Given the description of an element on the screen output the (x, y) to click on. 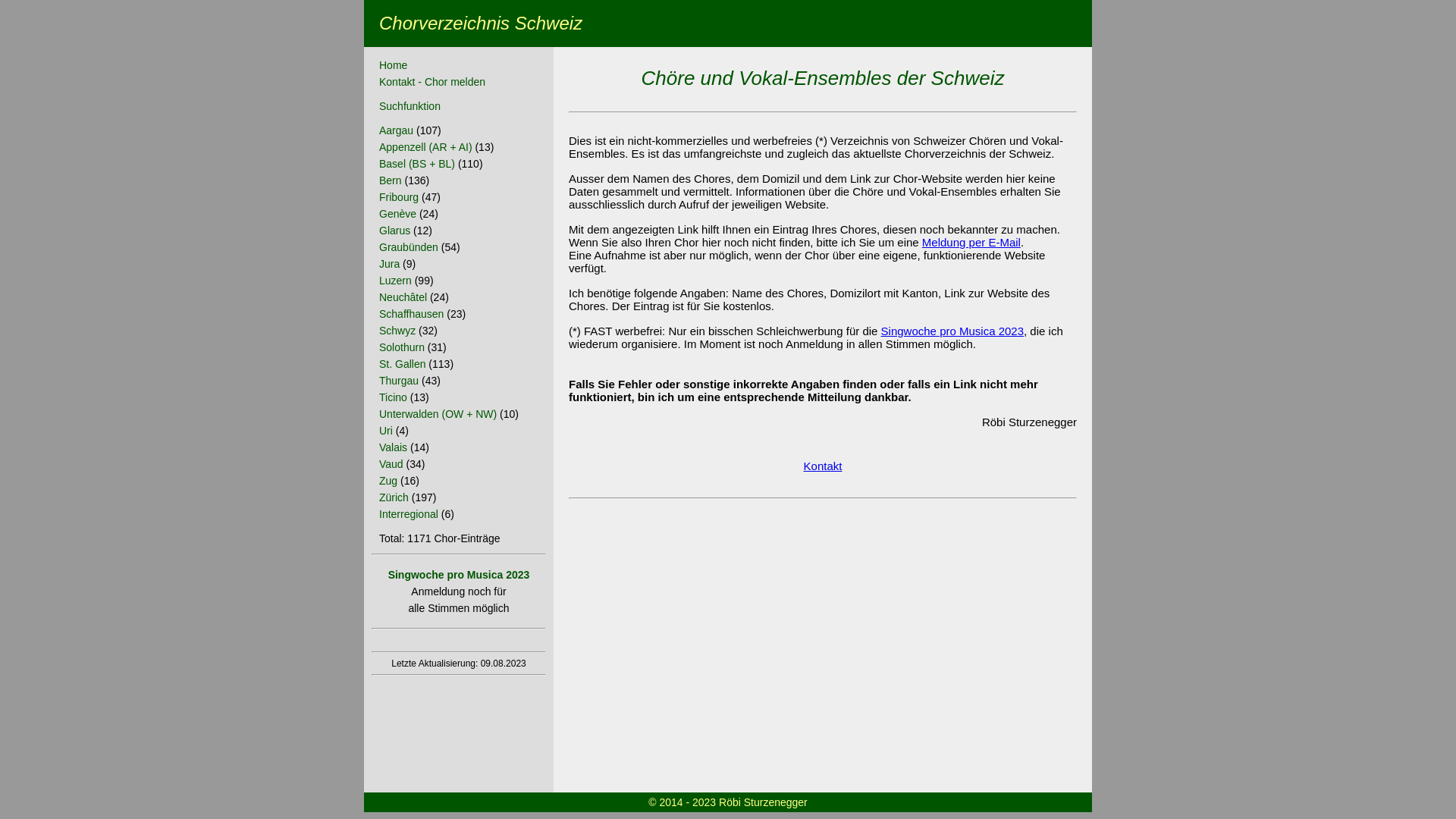
Aargau Element type: text (396, 130)
Bern Element type: text (390, 180)
Ticino Element type: text (393, 397)
Vaud Element type: text (391, 464)
Fribourg Element type: text (398, 197)
Glarus Element type: text (394, 230)
St. Gallen Element type: text (402, 363)
Appenzell (AR + AI) Element type: text (425, 147)
Schwyz Element type: text (397, 330)
Home Element type: text (393, 65)
Luzern Element type: text (395, 280)
Schaffhausen Element type: text (411, 313)
Singwoche pro Musica 2023 Element type: text (459, 574)
Thurgau Element type: text (398, 380)
Kontakt Element type: text (822, 465)
Interregional Element type: text (408, 514)
Meldung per E-Mail Element type: text (971, 241)
Valais Element type: text (393, 447)
Suchfunktion Element type: text (409, 106)
Uri Element type: text (385, 430)
Solothurn Element type: text (401, 347)
Basel (BS + BL) Element type: text (417, 163)
Singwoche pro Musica 2023 Element type: text (952, 330)
Kontakt - Chor melden Element type: text (432, 81)
Jura Element type: text (389, 263)
Zug Element type: text (388, 480)
Unterwalden (OW + NW) Element type: text (437, 413)
